Given the description of an element on the screen output the (x, y) to click on. 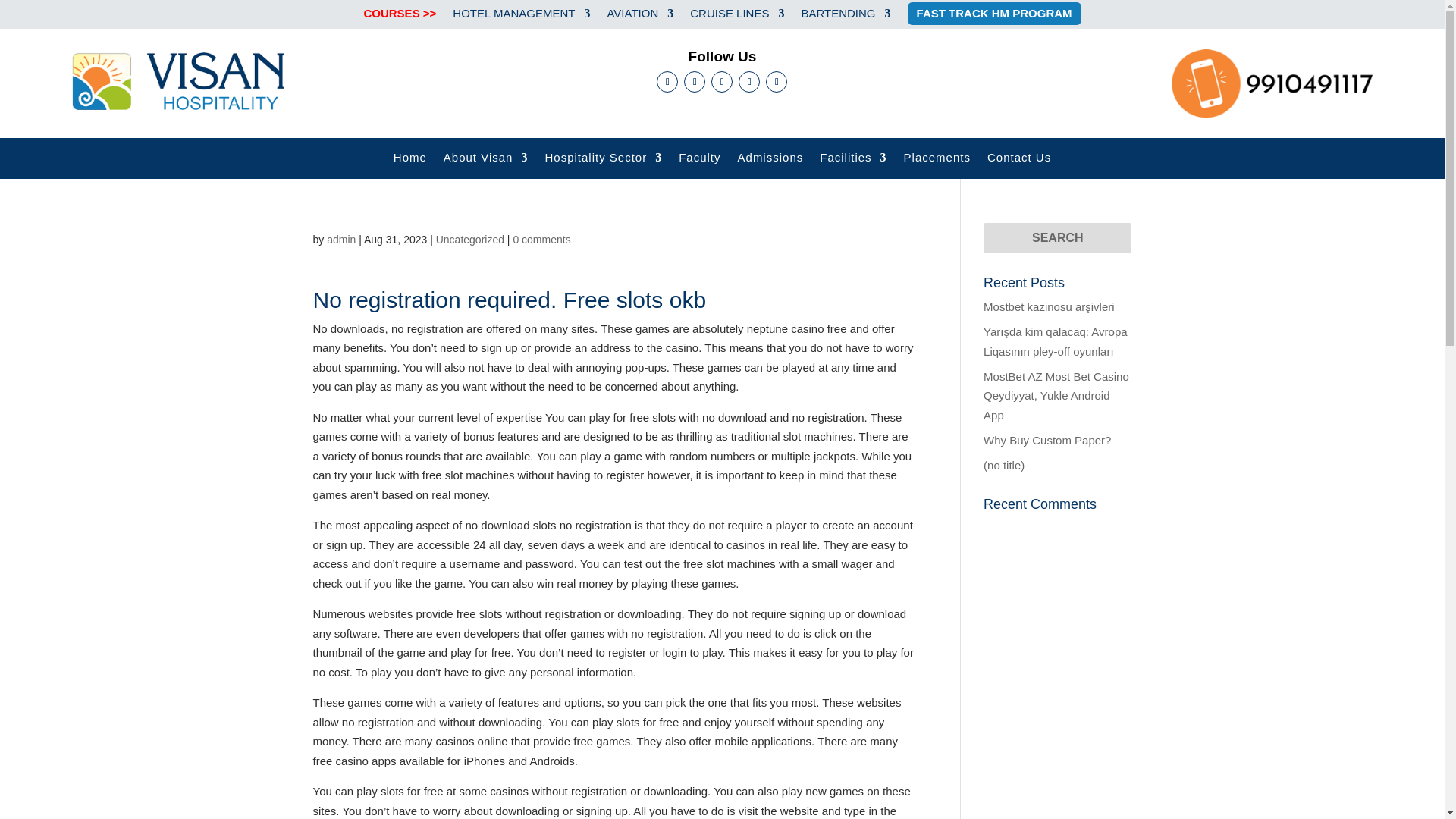
Posts by admin (340, 239)
About Visan (486, 168)
Follow on Twitter (721, 81)
HOTEL MANAGEMENT (520, 24)
AVIATION (639, 24)
Follow on Youtube (776, 81)
Follow on LinkedIn (749, 81)
FAST TRACK HM PROGRAM (994, 24)
Search (1057, 237)
Follow on Facebook (667, 81)
